Given the description of an element on the screen output the (x, y) to click on. 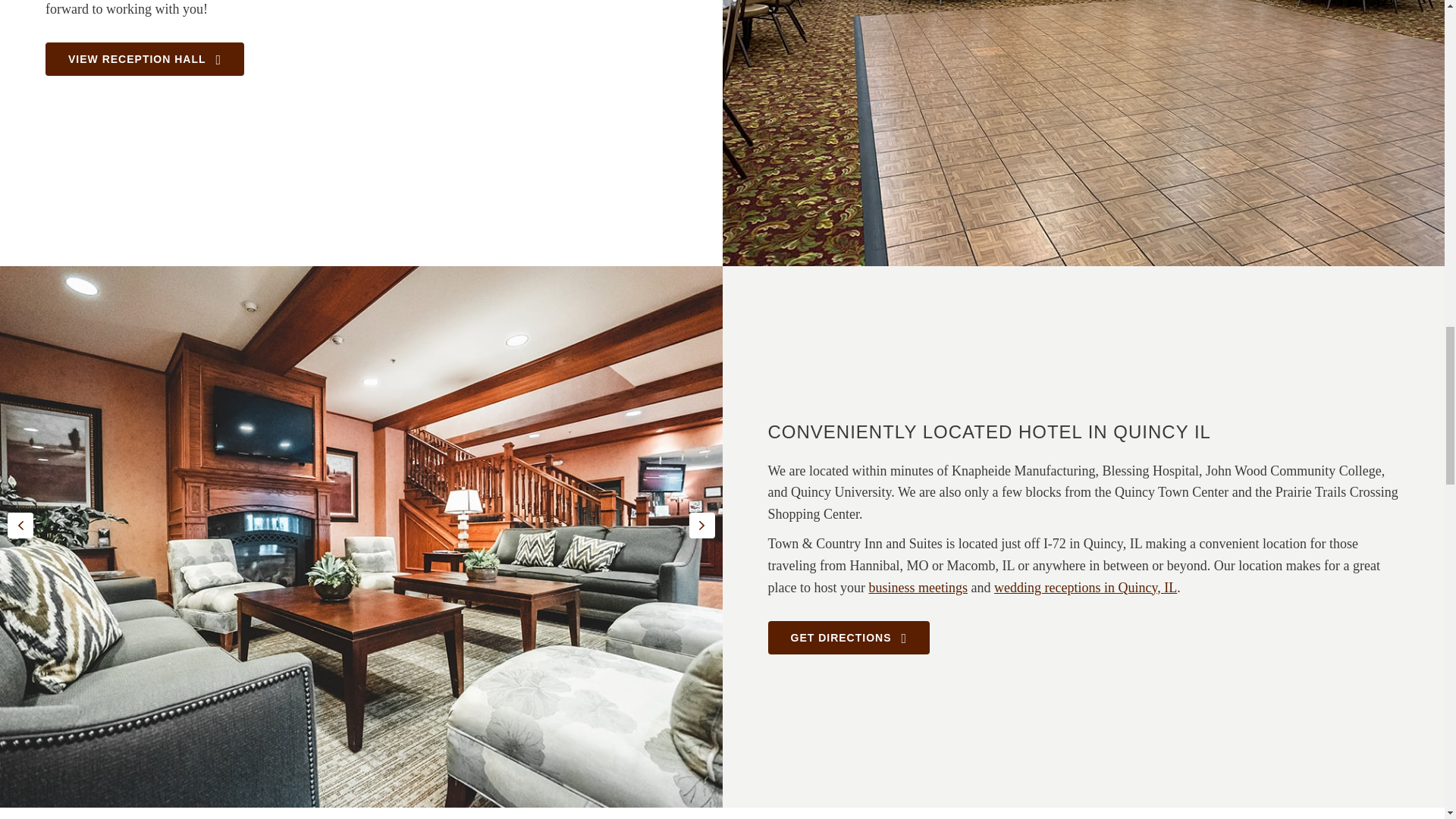
GET DIRECTIONS (848, 636)
wedding receptions in Quincy, IL (1085, 587)
business meetings (917, 587)
VIEW RECEPTION HALL (144, 58)
